Given the description of an element on the screen output the (x, y) to click on. 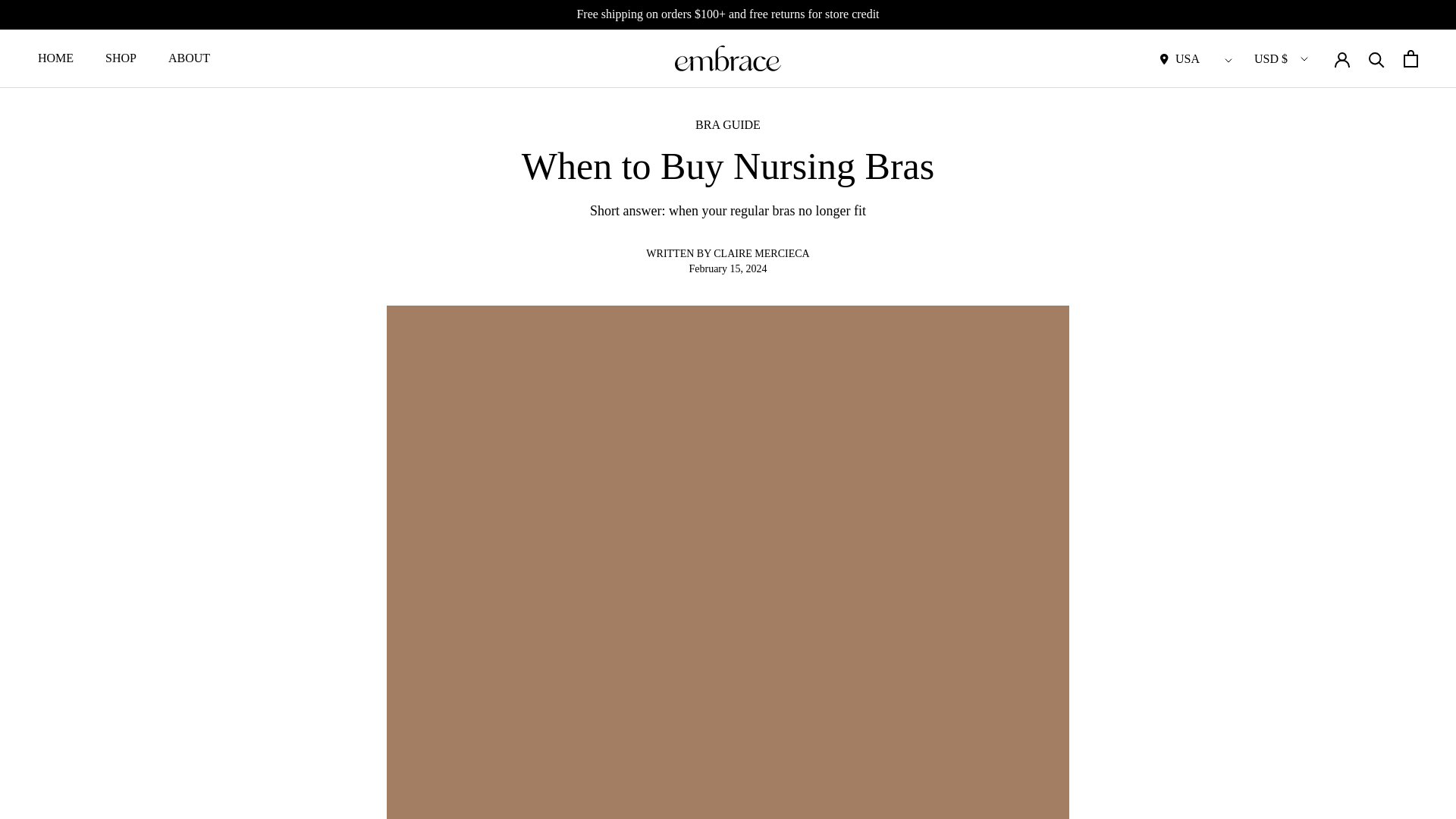
SHOP (55, 57)
